Given the description of an element on the screen output the (x, y) to click on. 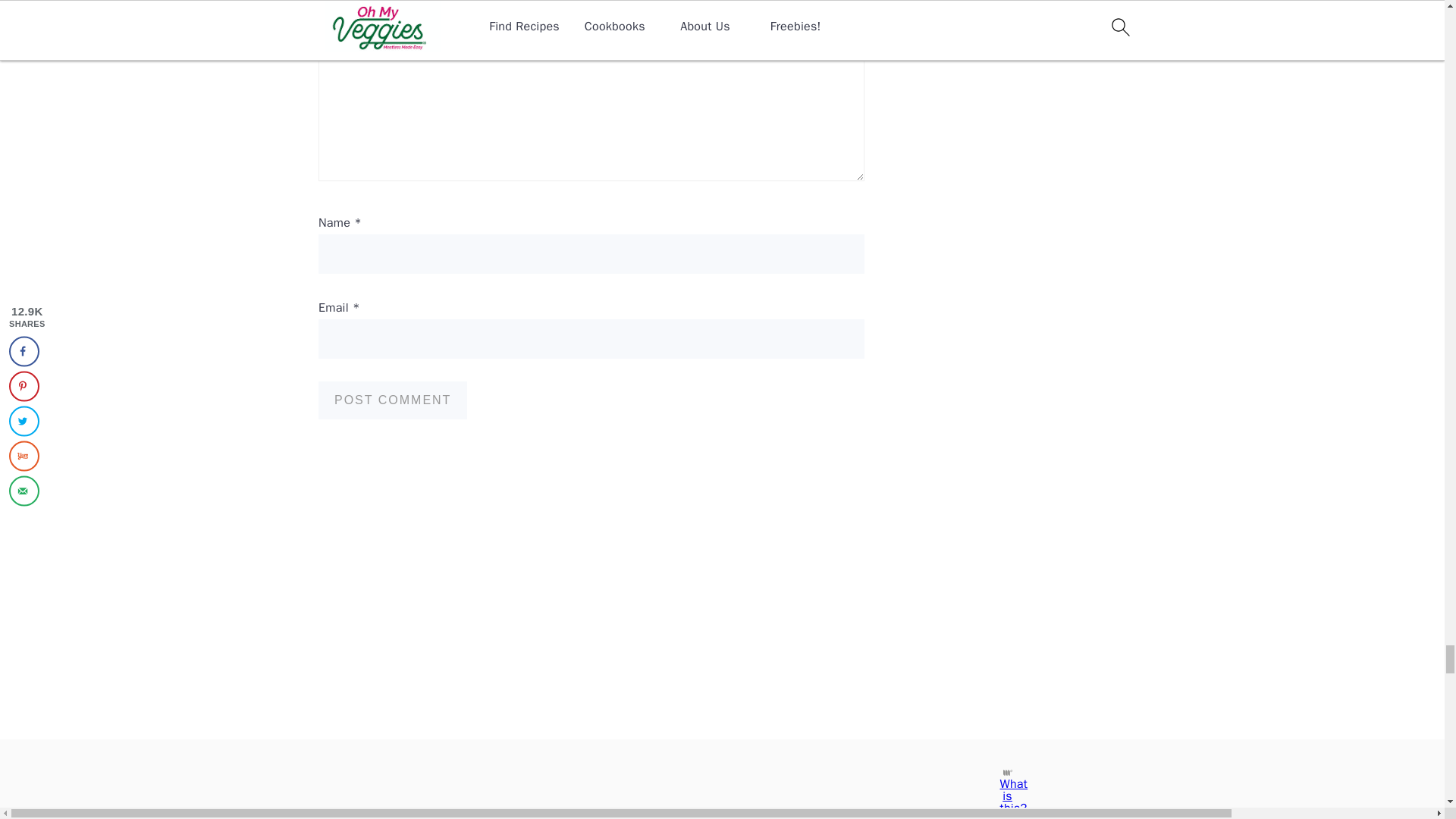
Post Comment (392, 400)
